Given the description of an element on the screen output the (x, y) to click on. 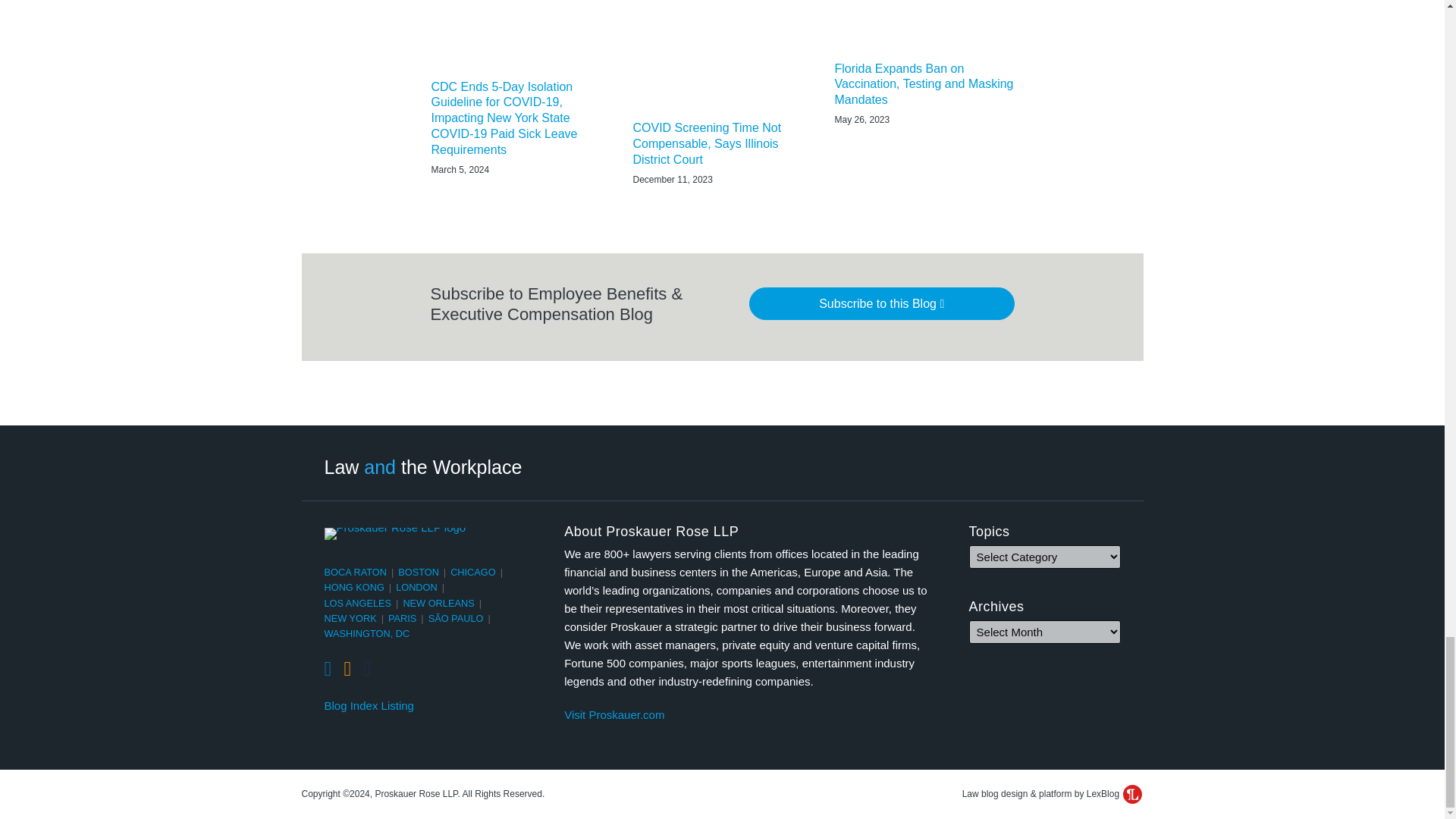
LexBlog Logo (1131, 793)
